Given the description of an element on the screen output the (x, y) to click on. 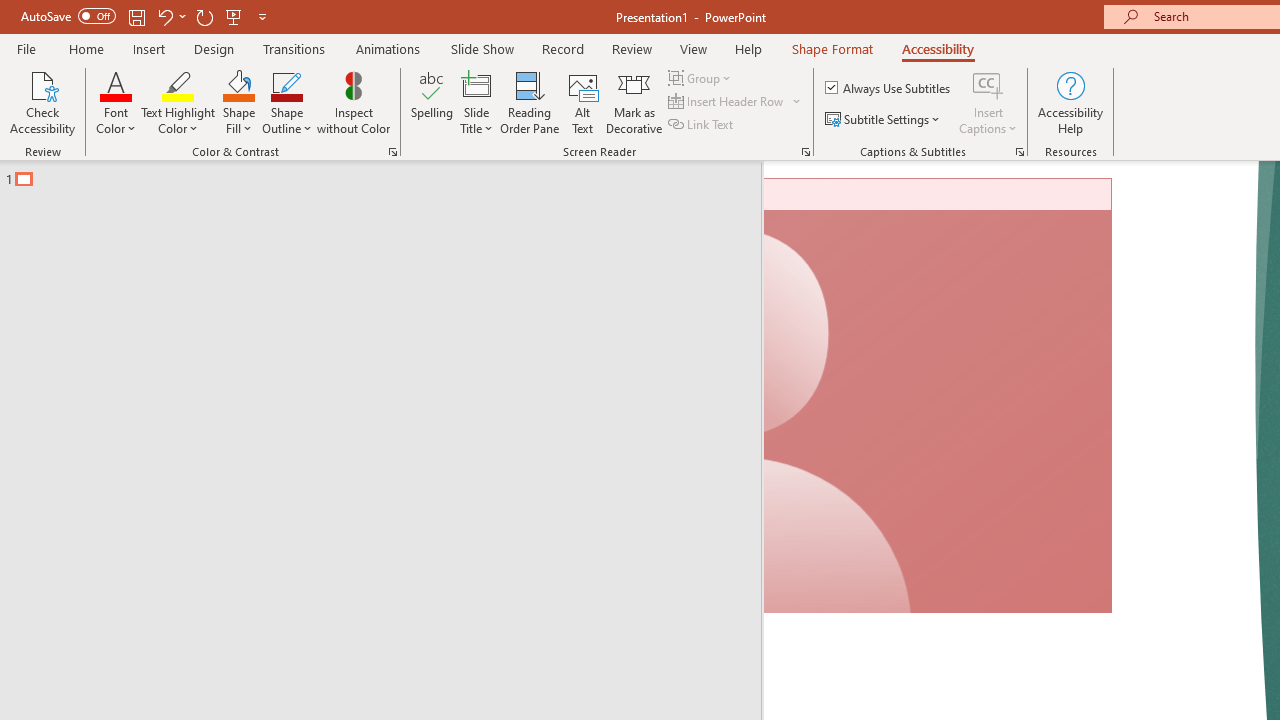
Accessibility Help (1070, 102)
Captions & Subtitles (1019, 151)
Alt Text (582, 102)
Shape Fill Orange, Accent 2 (238, 84)
Shape Outline Blue, Accent 1 (286, 84)
Font Color (116, 102)
Slide Title (476, 102)
Mark as Decorative (634, 102)
Text Highlight Color (178, 102)
Spelling... (432, 102)
